Given the description of an element on the screen output the (x, y) to click on. 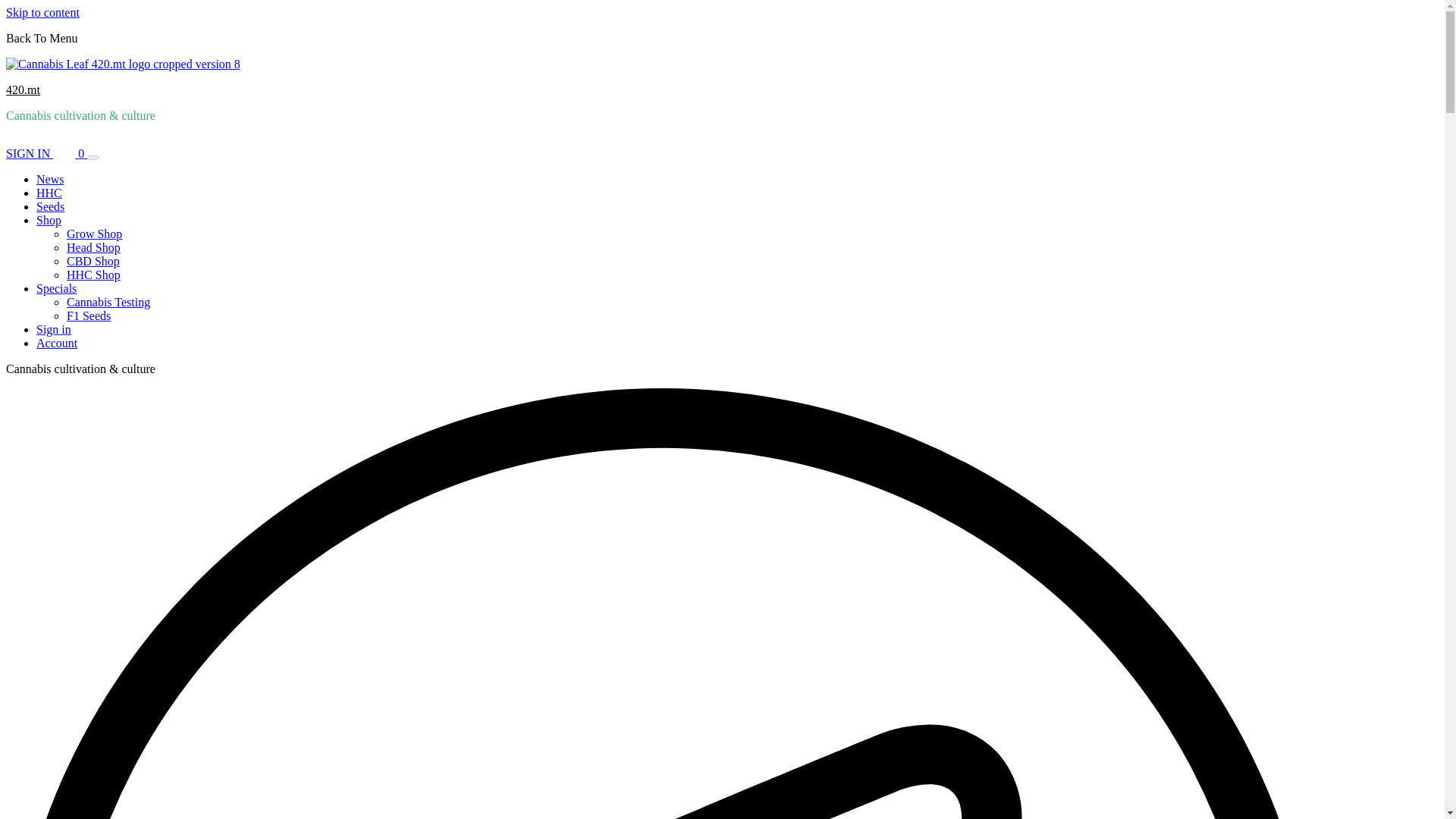
Cannabis Testing (107, 301)
0 (69, 153)
Head Shop (93, 246)
CBD Shop (92, 260)
HHC (49, 192)
Specials (60, 287)
Sign in (53, 328)
HHC Shop (93, 274)
SIGN IN (28, 153)
F1 Seeds (88, 315)
